Given the description of an element on the screen output the (x, y) to click on. 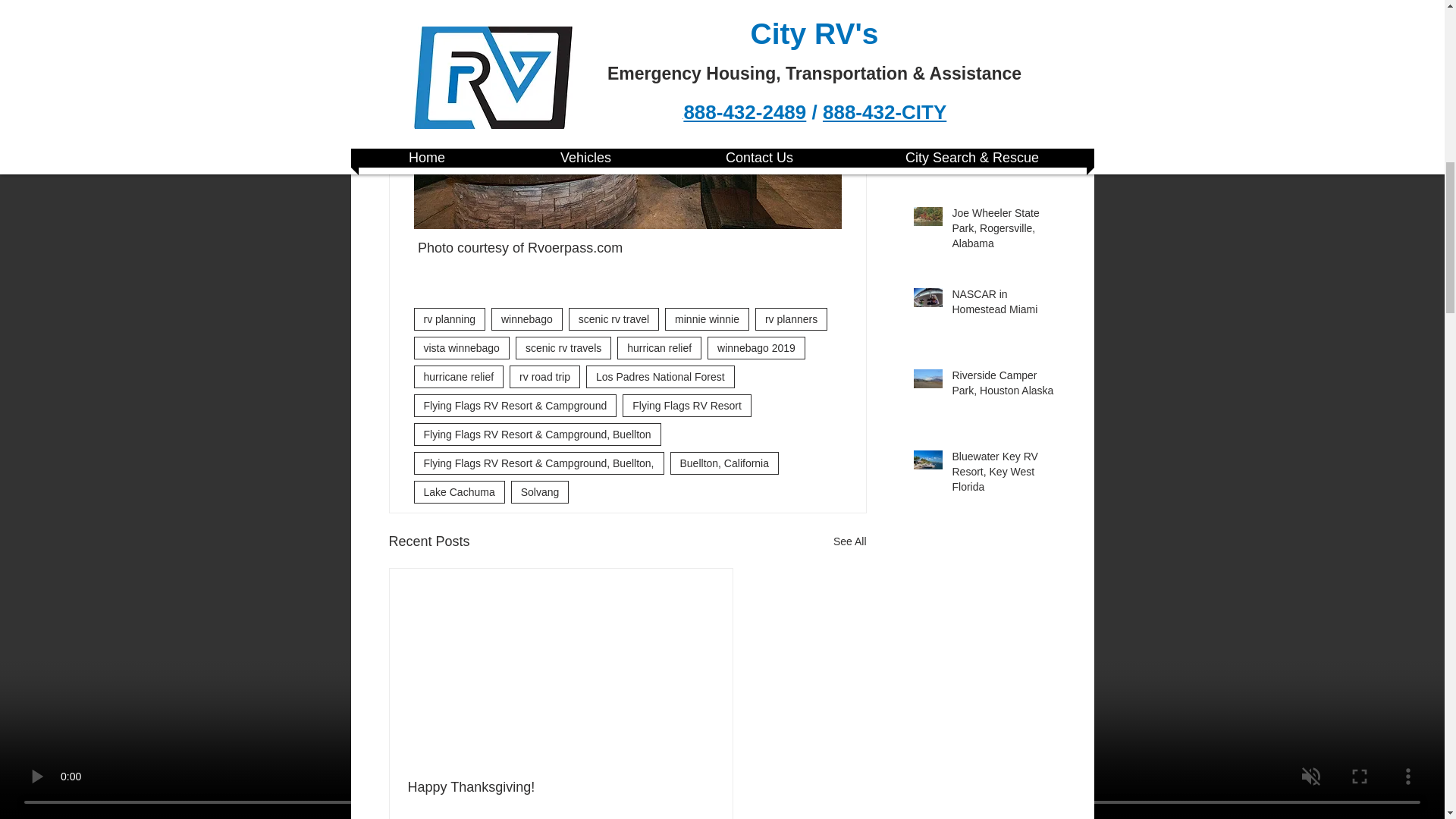
winnebago 2019 (756, 347)
rv planning (449, 318)
vista winnebago (461, 347)
scenic rv travel (614, 318)
Flying Flags RV Resort (687, 404)
minnie winnie (707, 318)
Lake Cachuma (459, 491)
rv planners (791, 318)
hurricane relief (458, 376)
scenic rv travels (563, 347)
Los Padres National Forest (660, 376)
rv road trip (544, 376)
Solvang (540, 491)
See All (849, 541)
Happy Thanksgiving! (560, 787)
